Given the description of an element on the screen output the (x, y) to click on. 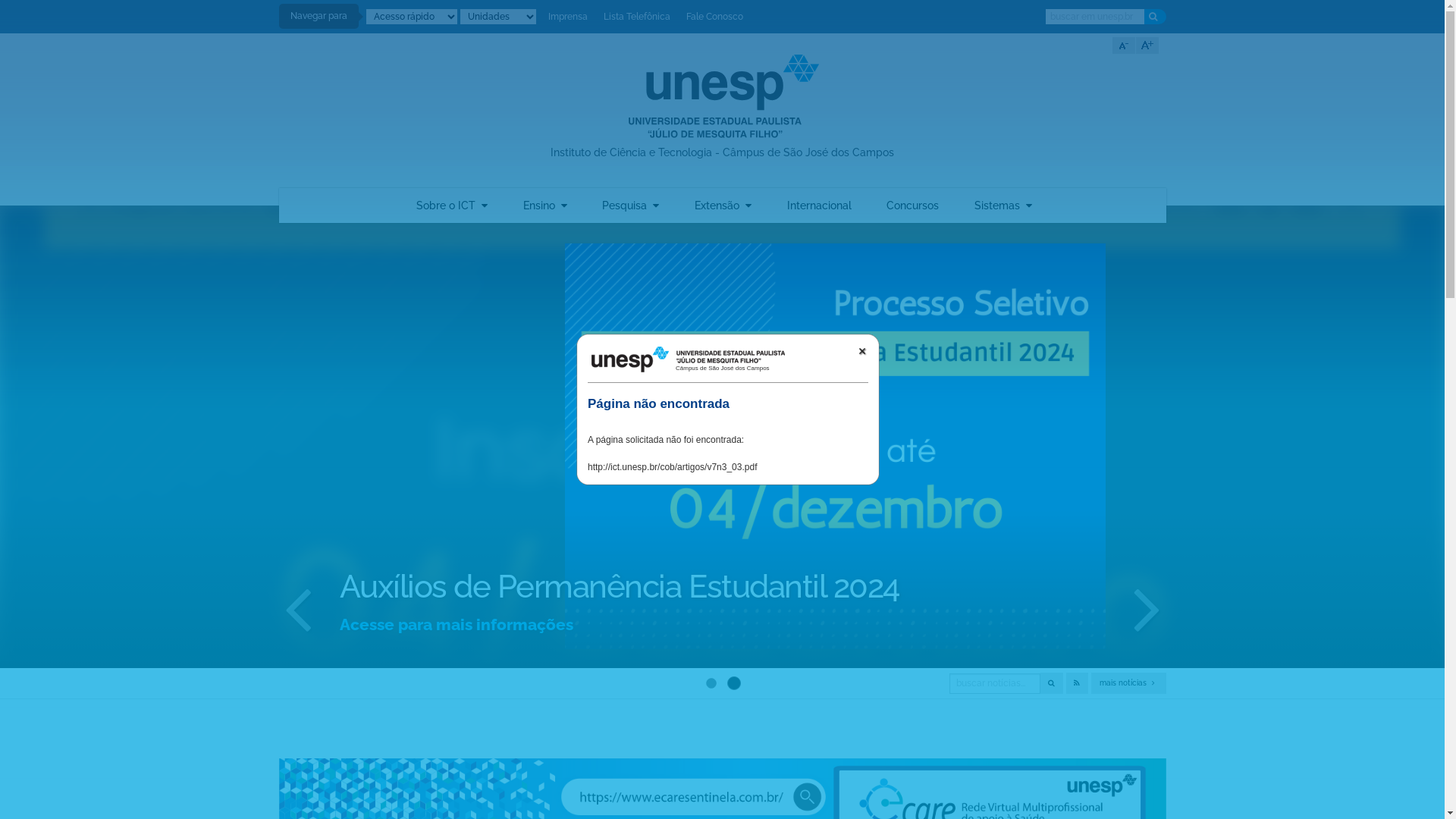
2 Element type: text (733, 640)
diminuir fonte Element type: hover (1122, 45)
Feed de RSS Element type: hover (1077, 682)
Previous Element type: text (297, 564)
Next Element type: text (1146, 564)
aumentar fonte Element type: hover (1147, 45)
Fechar Element type: hover (862, 351)
1 Element type: text (708, 637)
